Given the description of an element on the screen output the (x, y) to click on. 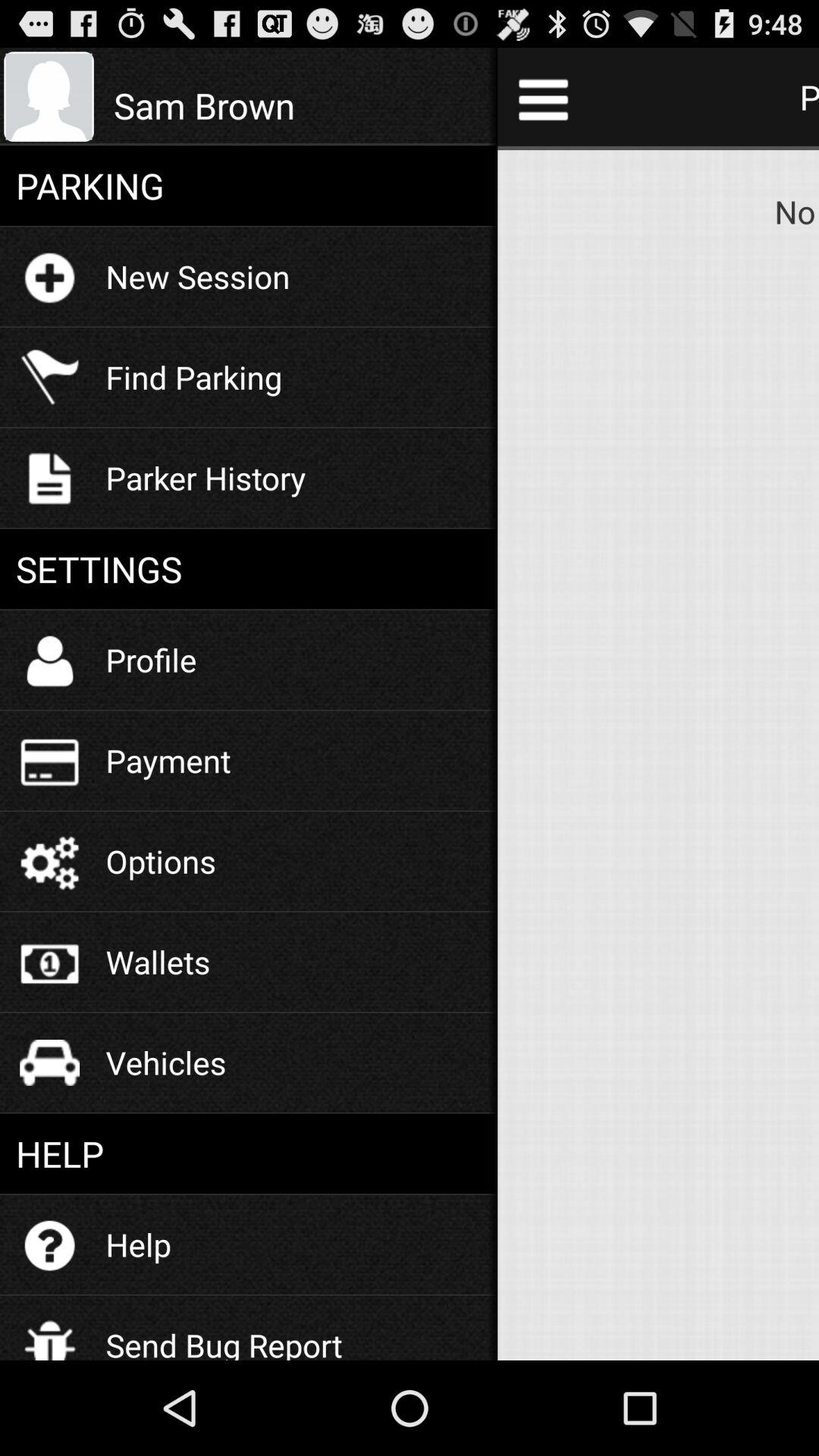
turn on the payment (167, 759)
